Given the description of an element on the screen output the (x, y) to click on. 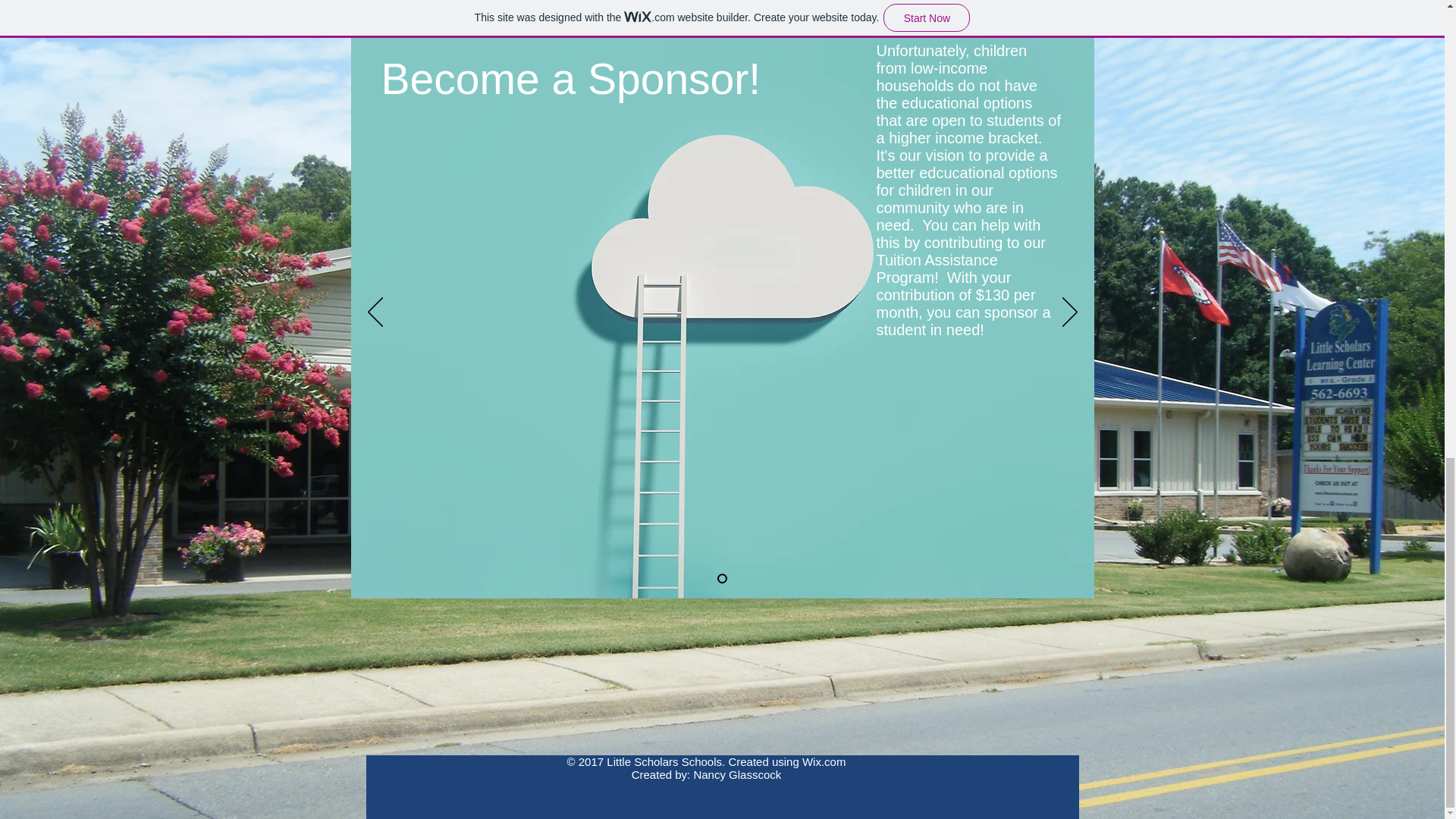
Wix.com (823, 761)
